Given the description of an element on the screen output the (x, y) to click on. 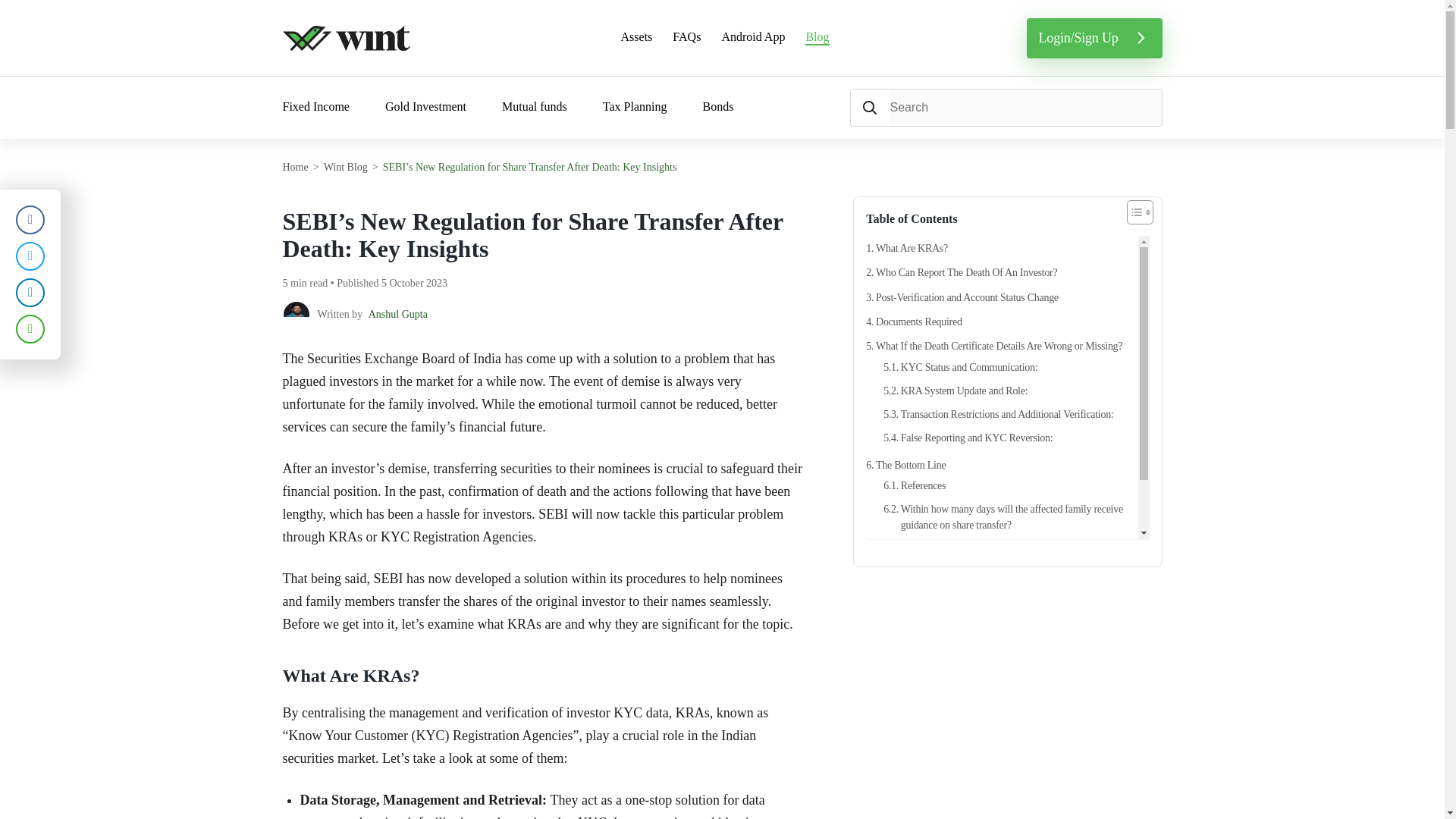
Search (869, 107)
Wint Blog (345, 166)
Bonds (717, 107)
Assets (636, 37)
FAQs (686, 37)
Blog (816, 37)
Search (869, 107)
Home (294, 166)
Search (869, 107)
Gold Investment (425, 107)
Anshul Gupta (397, 314)
Tax Planning (634, 107)
Mutual funds (534, 107)
Android App (752, 37)
Fixed Income (315, 107)
